Given the description of an element on the screen output the (x, y) to click on. 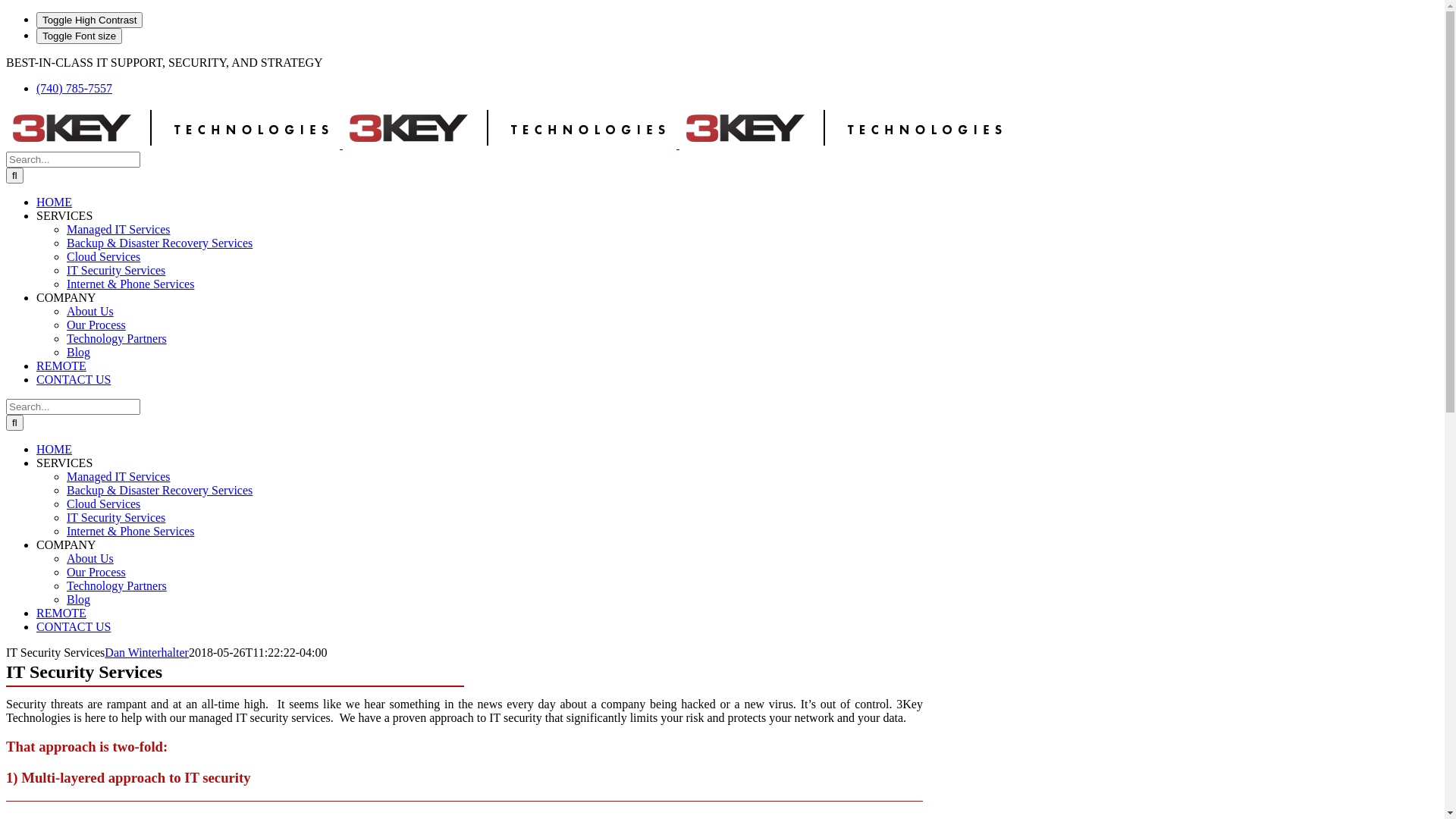
About Us Element type: text (89, 310)
CONTACT US Element type: text (73, 626)
Technology Partners Element type: text (116, 585)
Skip to content Element type: text (5, 55)
Cloud Services Element type: text (103, 256)
IT Security Services Element type: text (115, 269)
COMPANY Element type: text (66, 544)
Cloud Services Element type: text (103, 503)
SERVICES Element type: text (64, 215)
Dan Winterhalter Element type: text (146, 652)
Backup & Disaster Recovery Services Element type: text (159, 489)
REMOTE Element type: text (61, 365)
Backup & Disaster Recovery Services Element type: text (159, 242)
IT Security Services Element type: text (115, 517)
HOME Element type: text (54, 448)
About Us Element type: text (89, 558)
(740) 785-7557 Element type: text (74, 87)
REMOTE Element type: text (61, 612)
Internet & Phone Services Element type: text (130, 283)
Managed IT Services Element type: text (118, 228)
Blog Element type: text (78, 351)
Technology Partners Element type: text (116, 338)
Managed IT Services Element type: text (118, 476)
COMPANY Element type: text (66, 297)
Our Process Element type: text (95, 324)
Internet & Phone Services Element type: text (130, 530)
HOME Element type: text (54, 201)
Toggle High Contrast Element type: text (89, 20)
Toggle Font size Element type: text (79, 35)
CONTACT US Element type: text (73, 379)
Our Process Element type: text (95, 571)
SERVICES Element type: text (64, 462)
Blog Element type: text (78, 599)
